Given the description of an element on the screen output the (x, y) to click on. 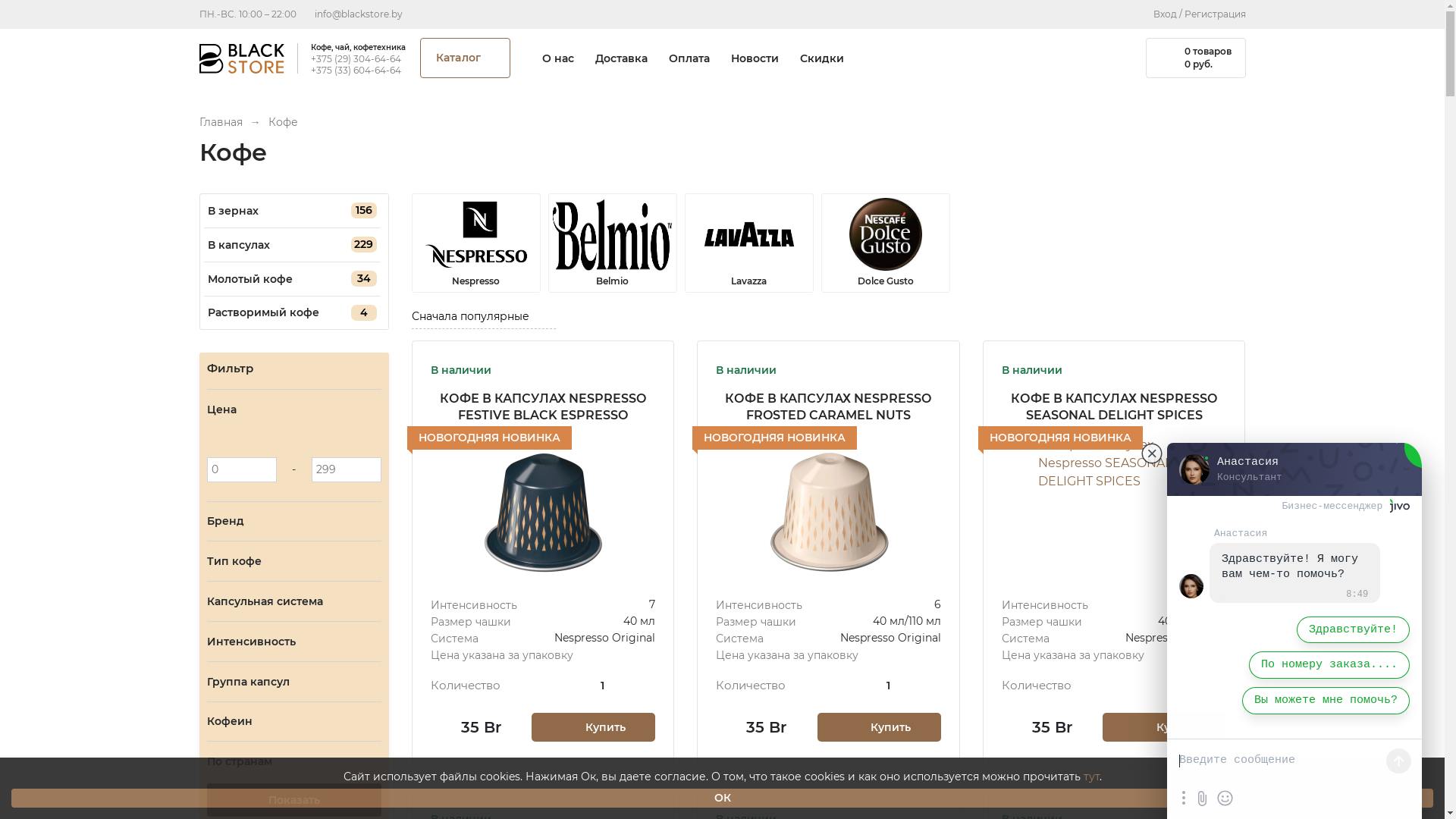
Lavazza Element type: text (748, 242)
+375 (33) 604-64-64 Element type: text (357, 70)
Belmio Element type: text (611, 242)
Dolce Gusto Element type: text (884, 242)
Nespresso Element type: text (475, 242)
+375 (29) 304-64-64 Element type: text (357, 58)
info@blackstore.by Element type: text (357, 14)
